Given the description of an element on the screen output the (x, y) to click on. 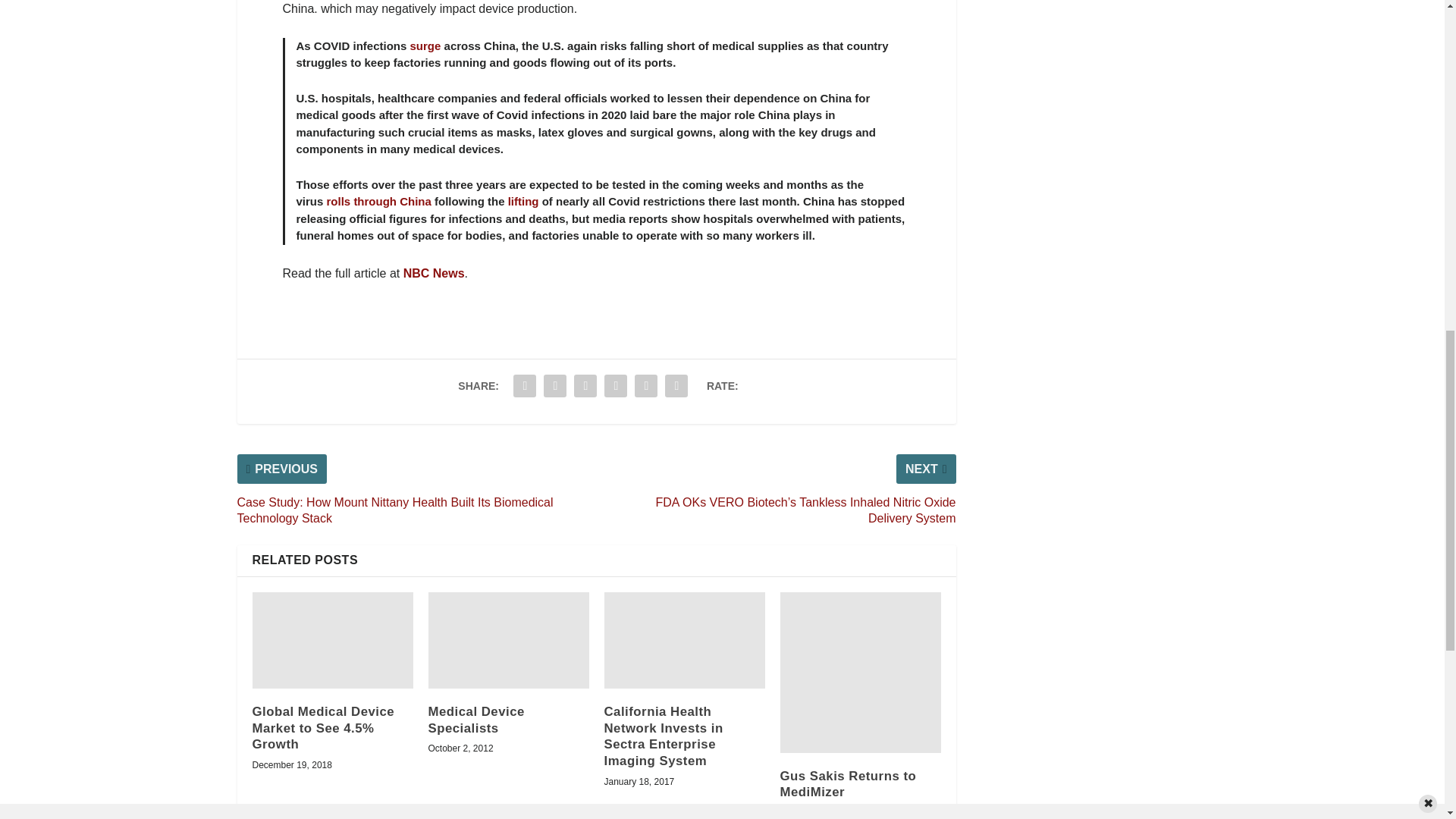
Medical Device Specialists (508, 640)
surge (425, 45)
NBC News (433, 273)
rolls through China  (380, 201)
Gus Sakis Returns to MediMizer (859, 672)
lifting (523, 201)
